Given the description of an element on the screen output the (x, y) to click on. 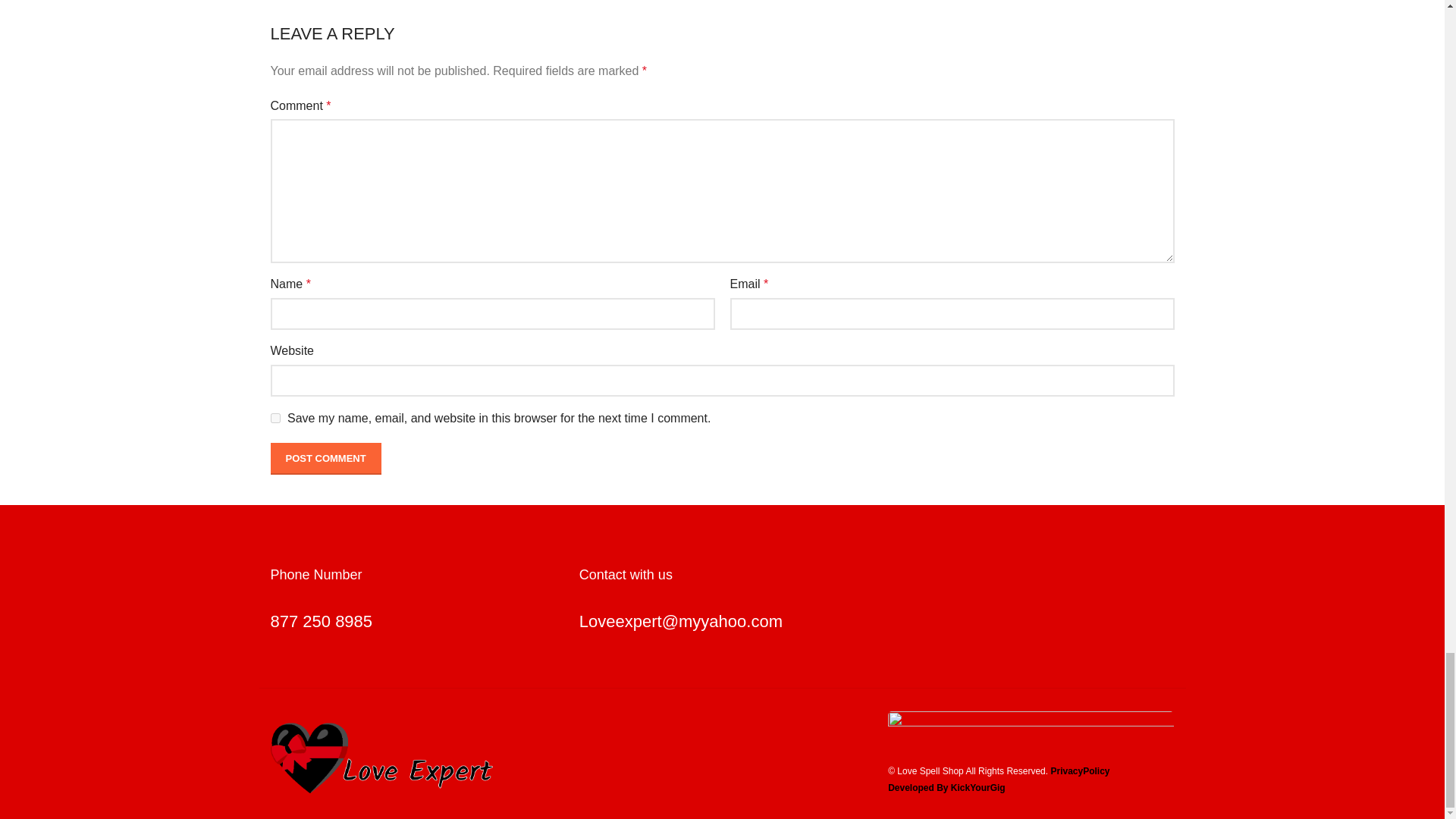
KickYourGig  (978, 787)
Post Comment (324, 459)
yes (274, 418)
PrivacyPolicy (1079, 770)
Post Comment (324, 459)
